Given the description of an element on the screen output the (x, y) to click on. 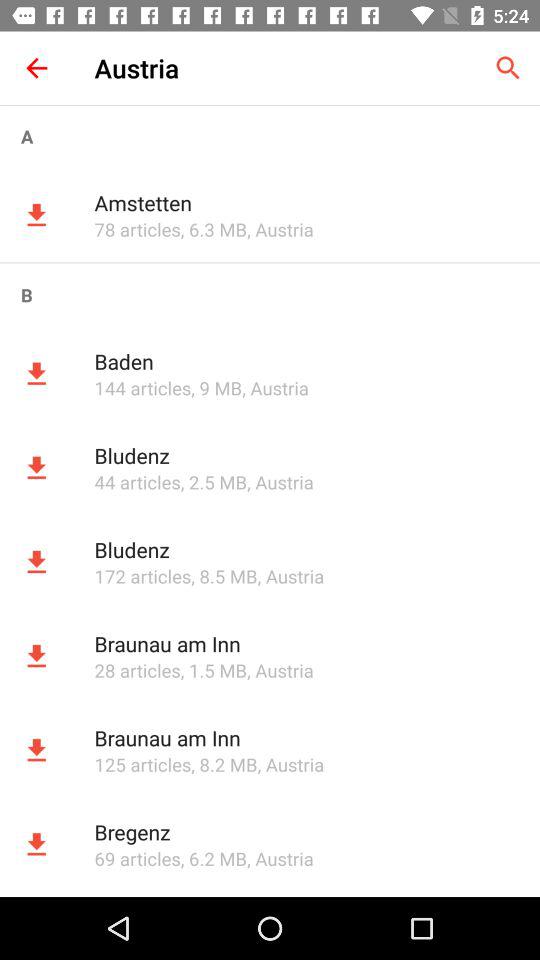
open app next to the , 6.3 mb item (137, 229)
